Given the description of an element on the screen output the (x, y) to click on. 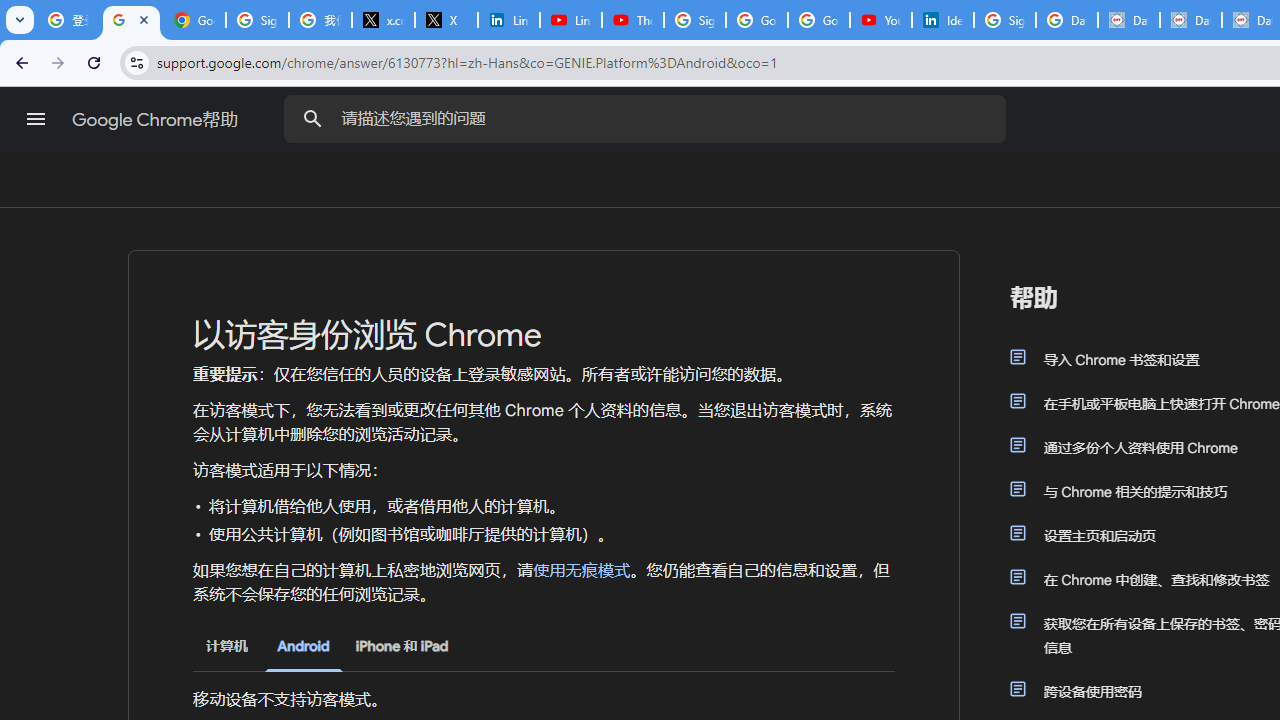
Data Privacy Framework (1128, 20)
Sign in - Google Accounts (257, 20)
